Given the description of an element on the screen output the (x, y) to click on. 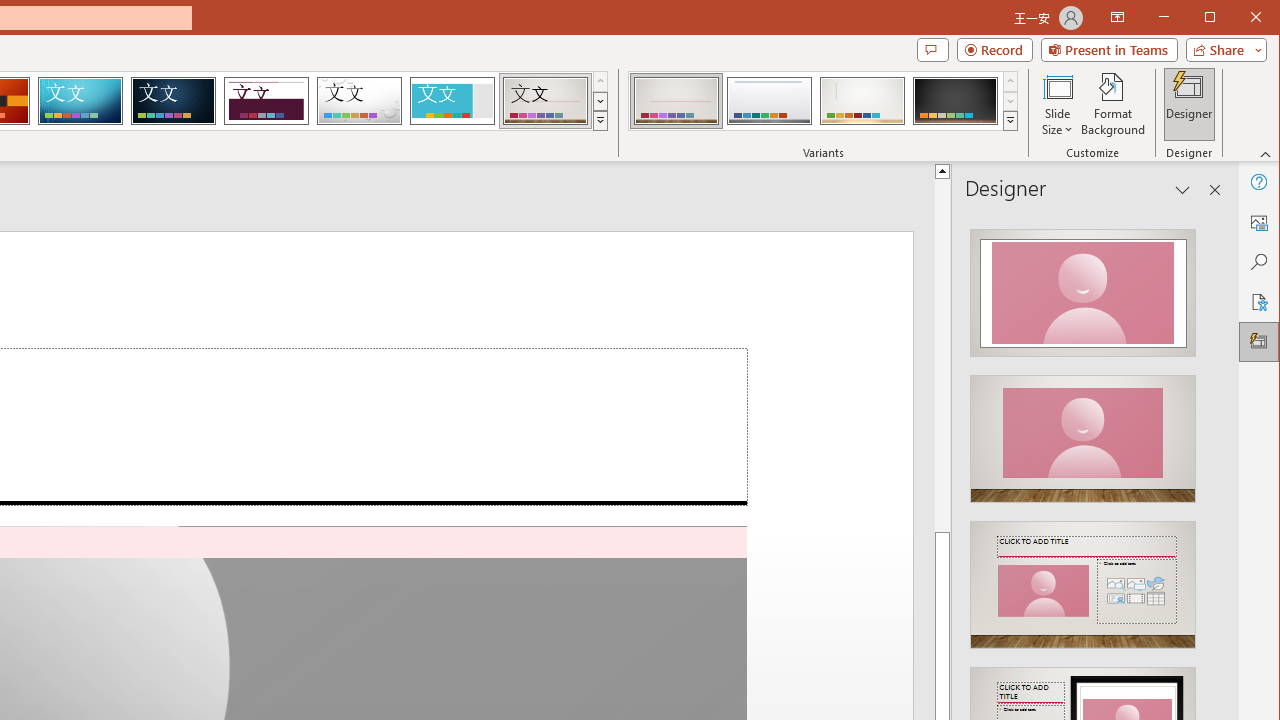
Circuit (80, 100)
Droplet (359, 100)
Frame (452, 100)
Damask (173, 100)
Variants (1010, 120)
Designer (1188, 104)
Dividend (266, 100)
Gallery (545, 100)
Gallery Variant 4 (955, 100)
AutomationID: ThemeVariantsGallery (824, 101)
